Given the description of an element on the screen output the (x, y) to click on. 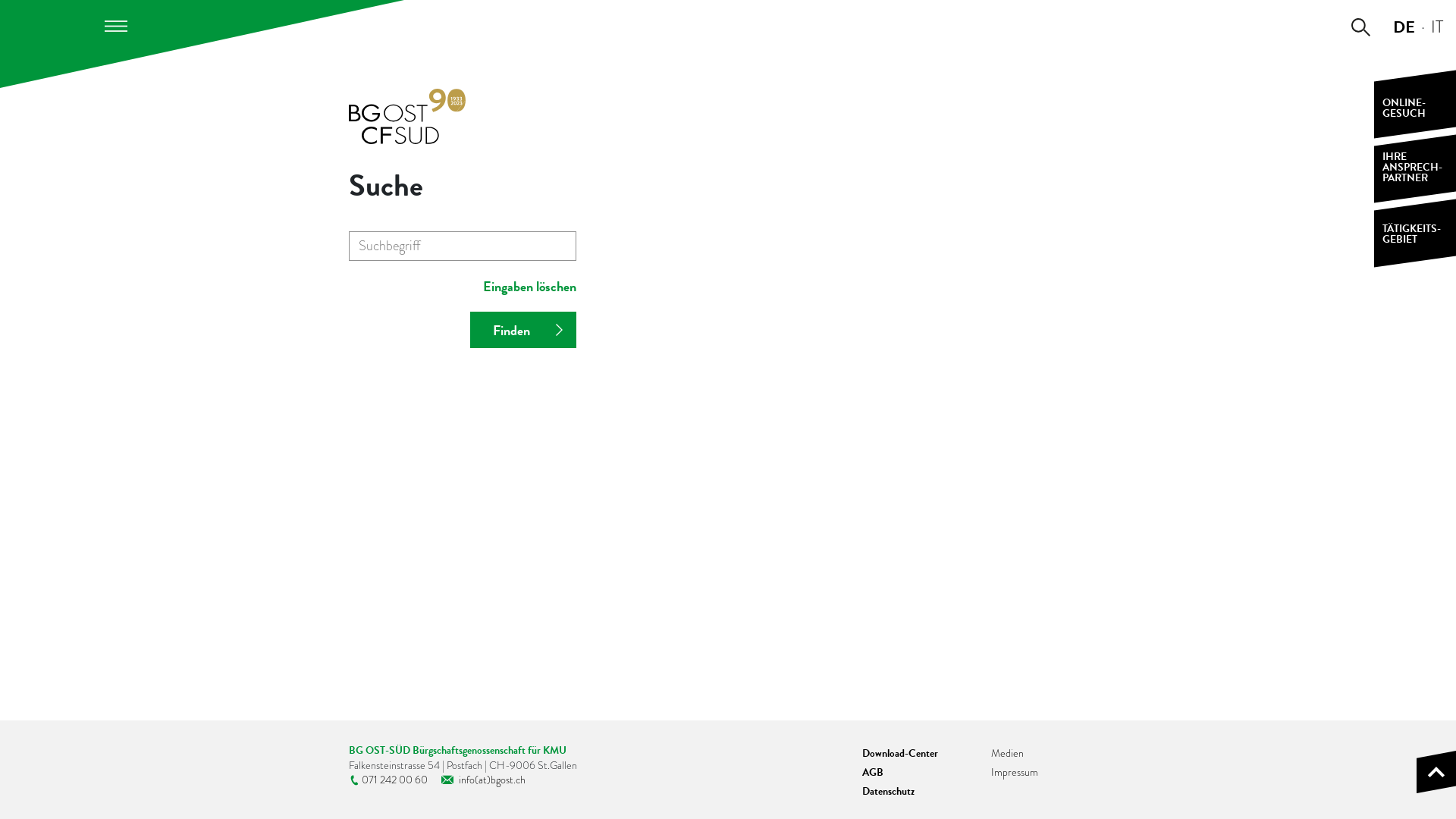
AGB Element type: text (872, 772)
Impressum Element type: text (1014, 771)
Datenschutz Element type: text (888, 791)
Download-Center Element type: text (900, 753)
Medien Element type: text (1007, 752)
IT Element type: text (1436, 26)
071 242 00 60 Element type: text (387, 779)
Finden Element type: text (523, 329)
DE Element type: text (1404, 26)
info(at)bgost.ch Element type: text (483, 779)
